Given the description of an element on the screen output the (x, y) to click on. 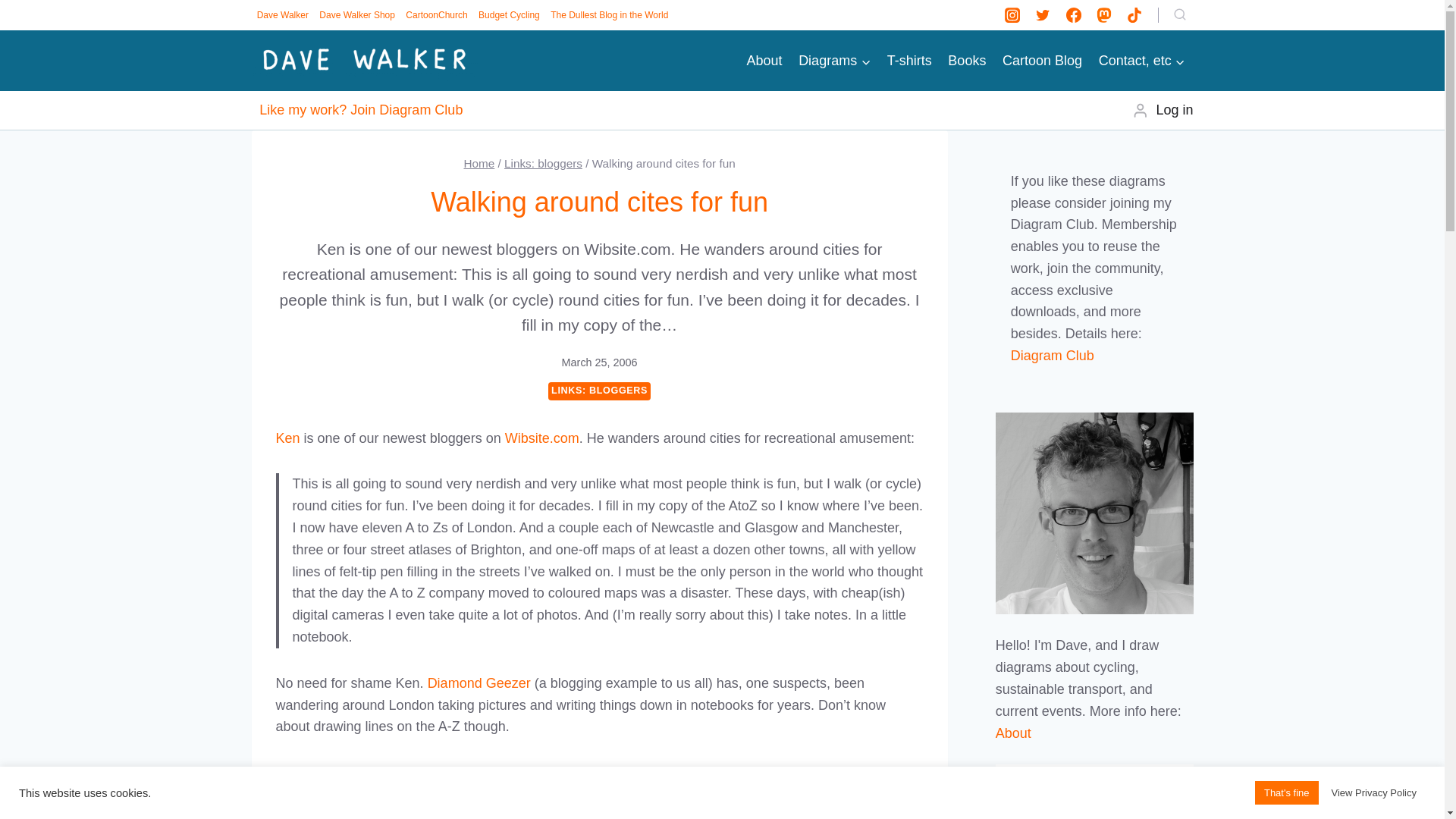
Dave Walker Shop (357, 14)
Dave Walker (282, 14)
Contact, etc (1141, 60)
Cartoon Blog (1042, 60)
Budget Cycling (508, 14)
Books (967, 60)
T-shirts (909, 60)
The Dullest Blog in the World (609, 14)
About (764, 60)
Diagrams (834, 60)
CartoonChurch (436, 14)
